Given the description of an element on the screen output the (x, y) to click on. 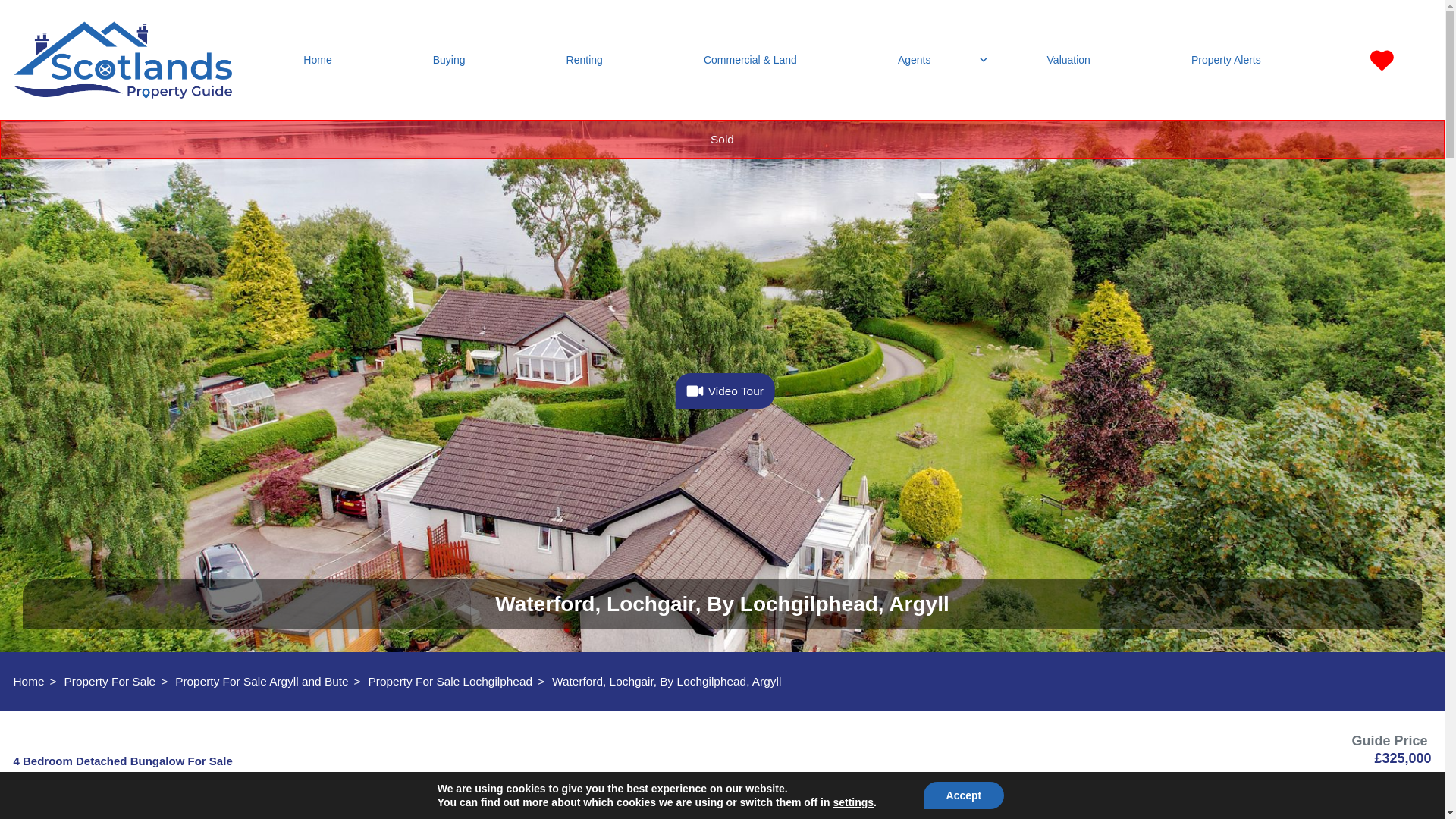
Valuation (1067, 60)
Property For Sale Argyll and Bute (260, 680)
Property Alerts (1225, 60)
Scotlands Property Guide Home Page (122, 58)
Agents (921, 60)
Video Tour (724, 390)
Buying (448, 60)
Home (29, 680)
Waterford, Lochgair, By Lochgilphead, Argyll (665, 680)
Property For Sale Lochgilphead (450, 680)
Renting (583, 60)
Favourite Properties (1381, 60)
Home (317, 60)
Property For Sale (109, 680)
